Given the description of an element on the screen output the (x, y) to click on. 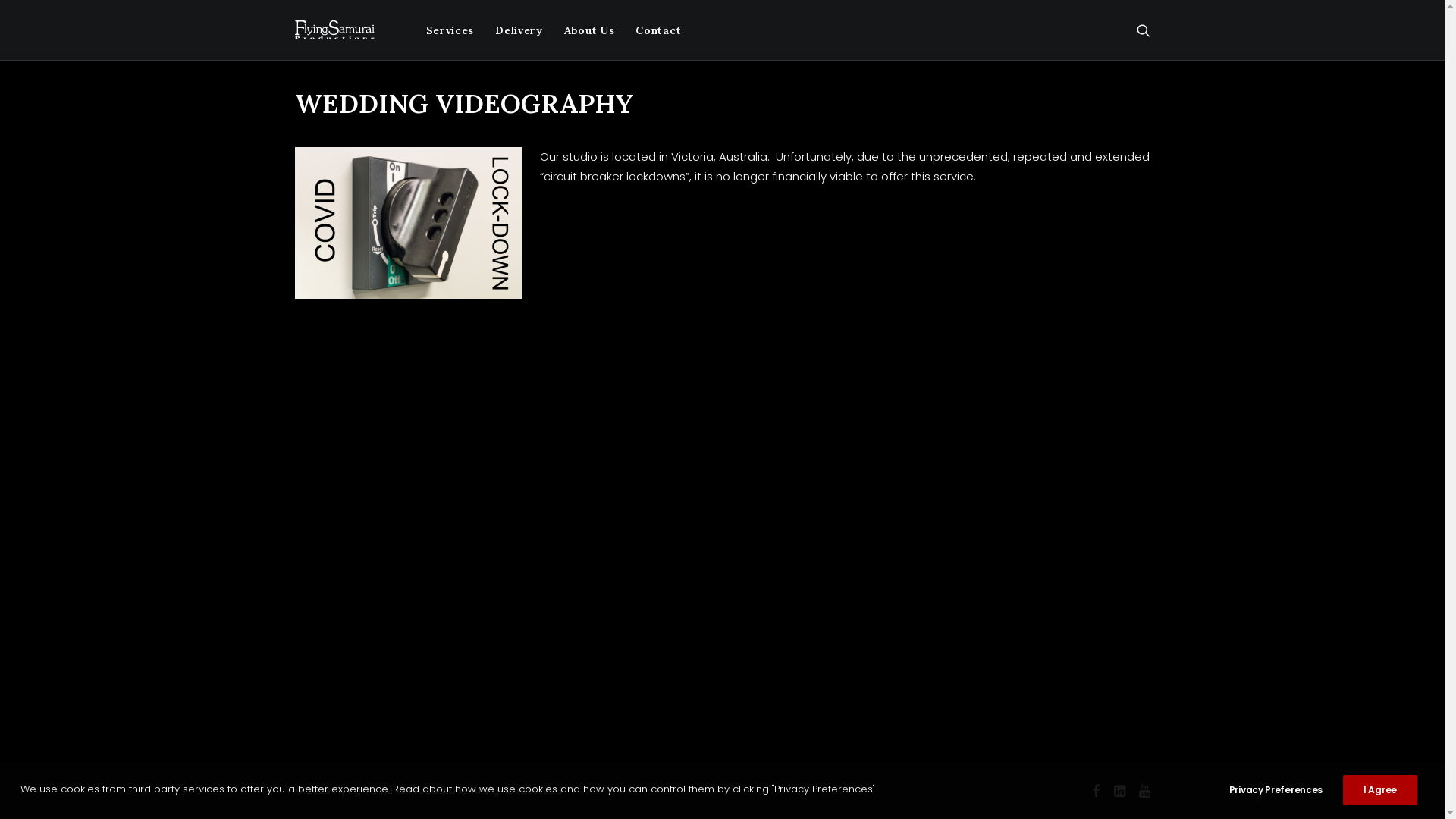
About Us Element type: text (589, 29)
Services Element type: text (450, 29)
Delivery Element type: text (518, 29)
I Agree Element type: text (1380, 790)
Privacy Preferences Element type: text (1286, 789)
Contact Element type: text (652, 29)
